Given the description of an element on the screen output the (x, y) to click on. 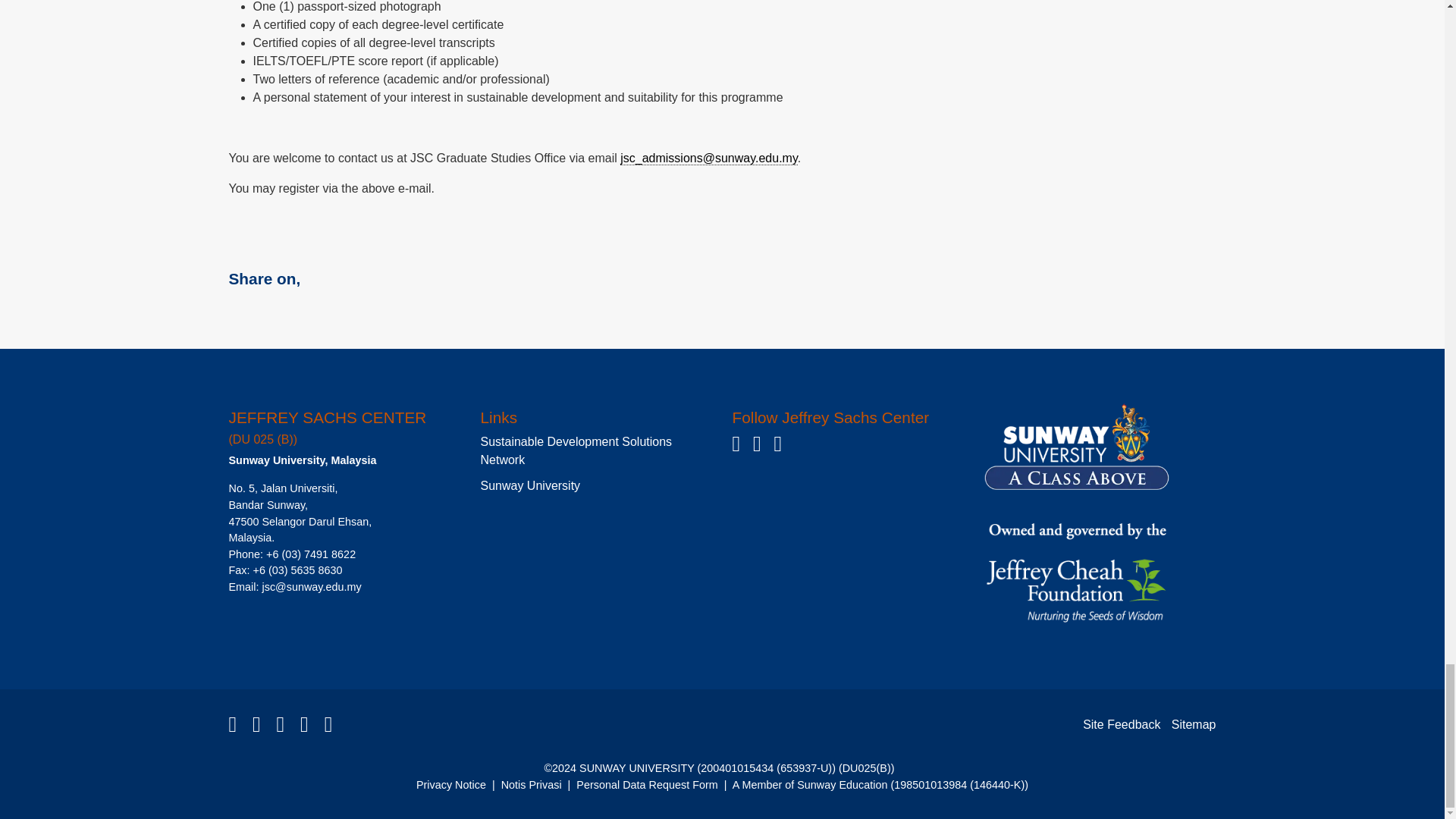
Share to Linkedin (319, 309)
Share to Email (355, 309)
Share to Facebook (246, 309)
Share to WhatsApp (282, 309)
